Given the description of an element on the screen output the (x, y) to click on. 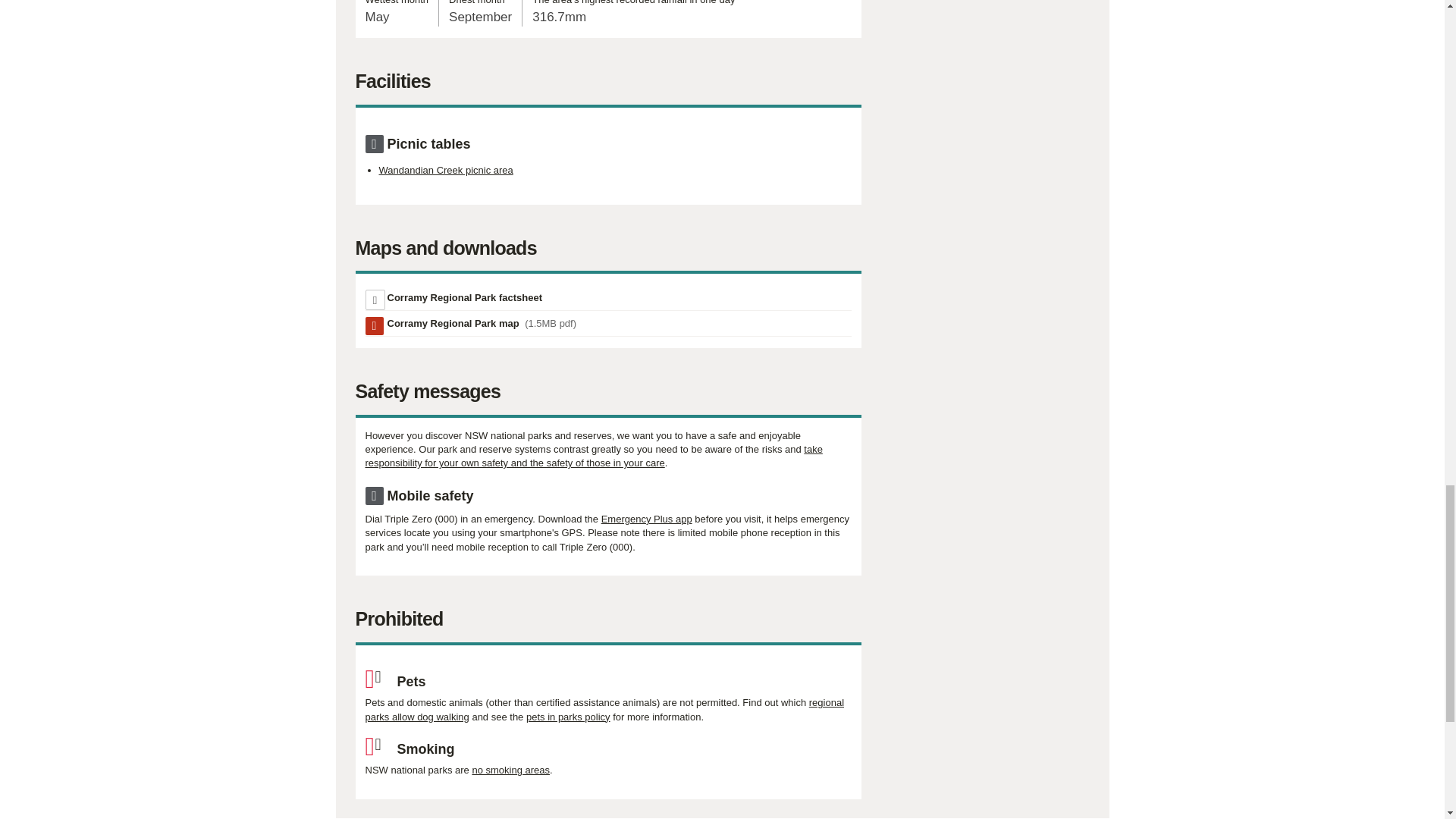
Print-friendly version of these webpages (464, 297)
